Given the description of an element on the screen output the (x, y) to click on. 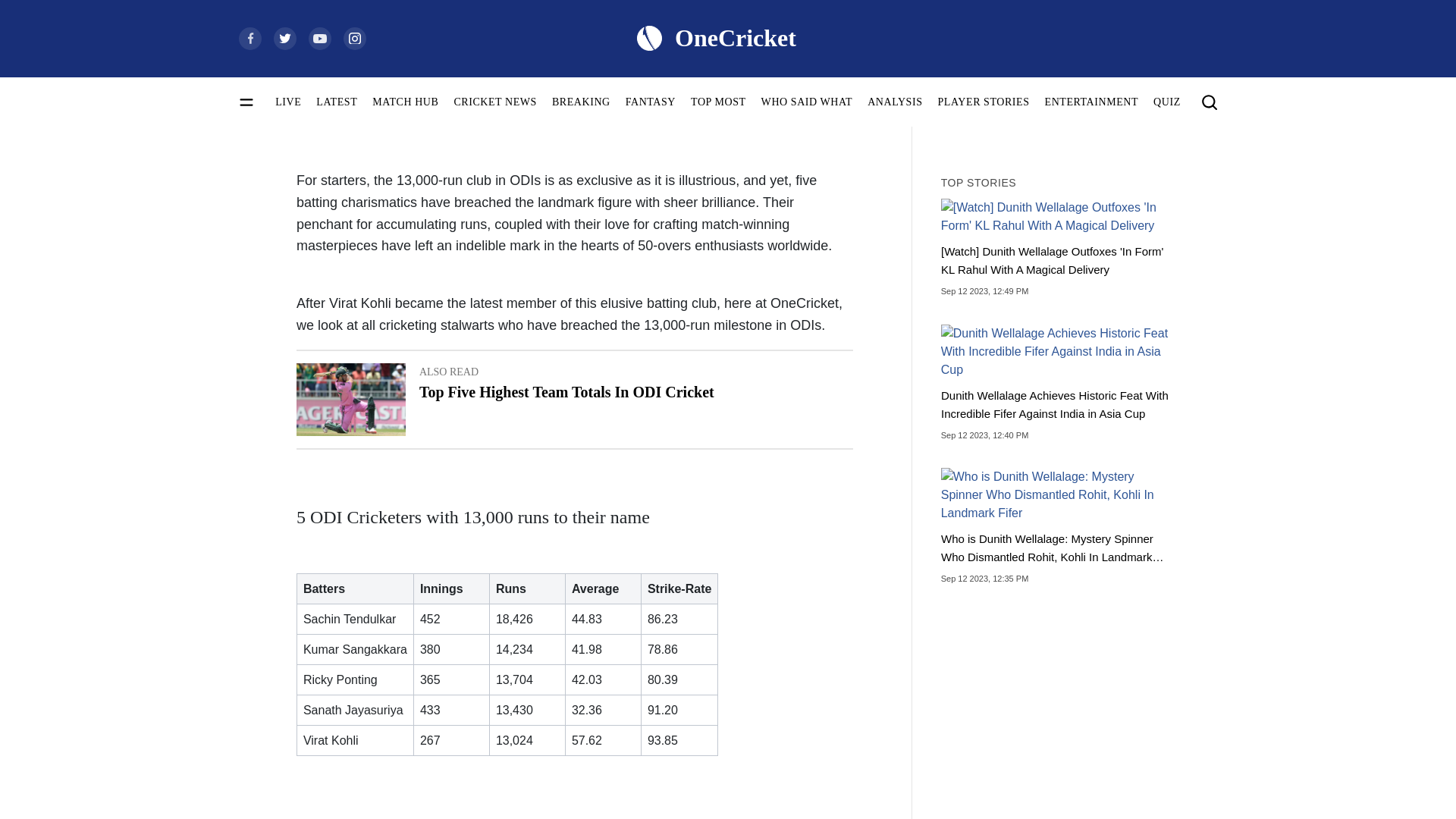
share on twitter (1004, 105)
share on facebook (959, 105)
share link (575, 399)
